Given the description of an element on the screen output the (x, y) to click on. 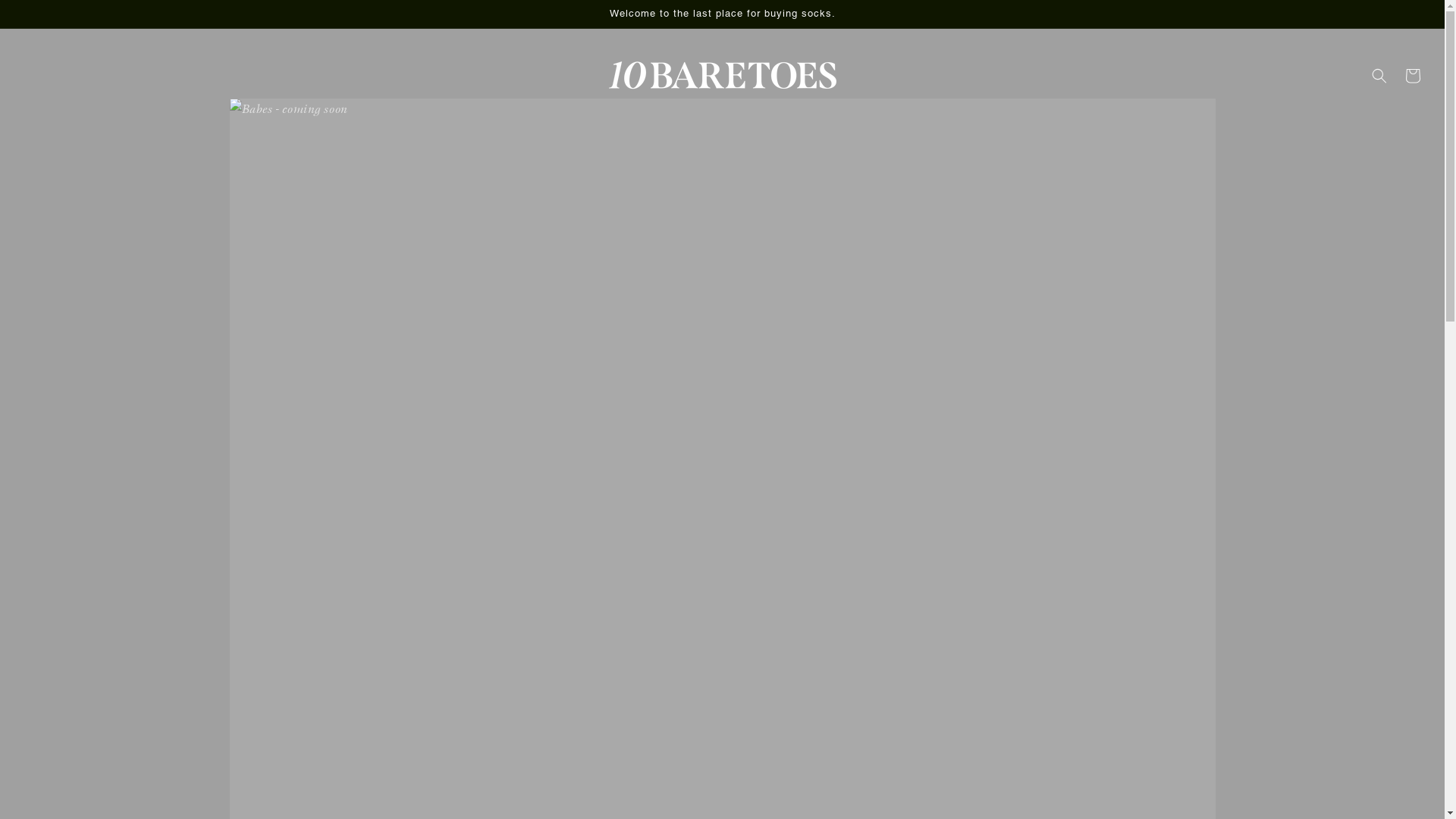
Cart Element type: text (1412, 75)
